Given the description of an element on the screen output the (x, y) to click on. 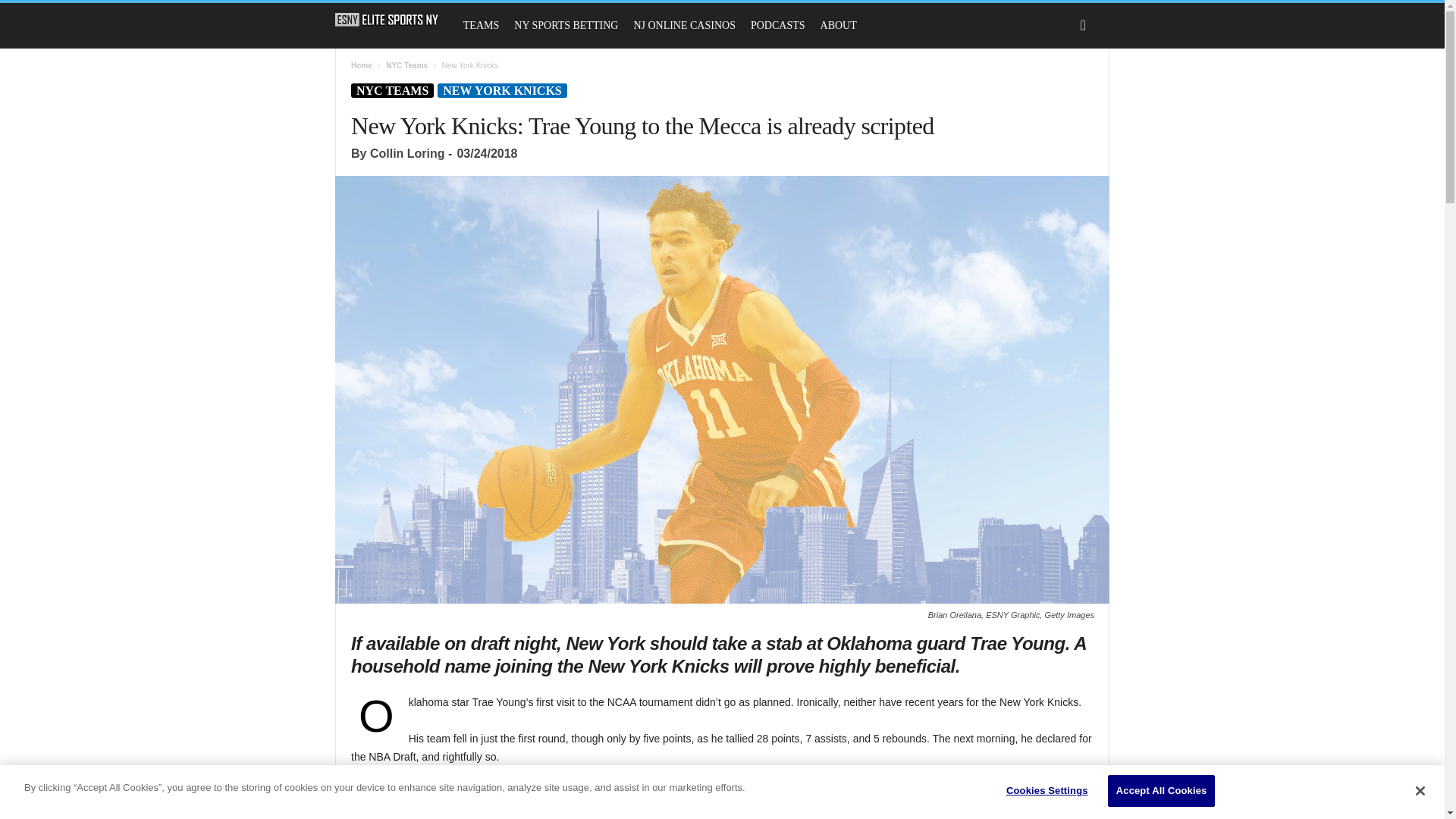
Elite Sports NY (394, 19)
TEAMS (480, 25)
Elite Sports NY (386, 19)
View all posts in NYC Teams (406, 65)
